Given the description of an element on the screen output the (x, y) to click on. 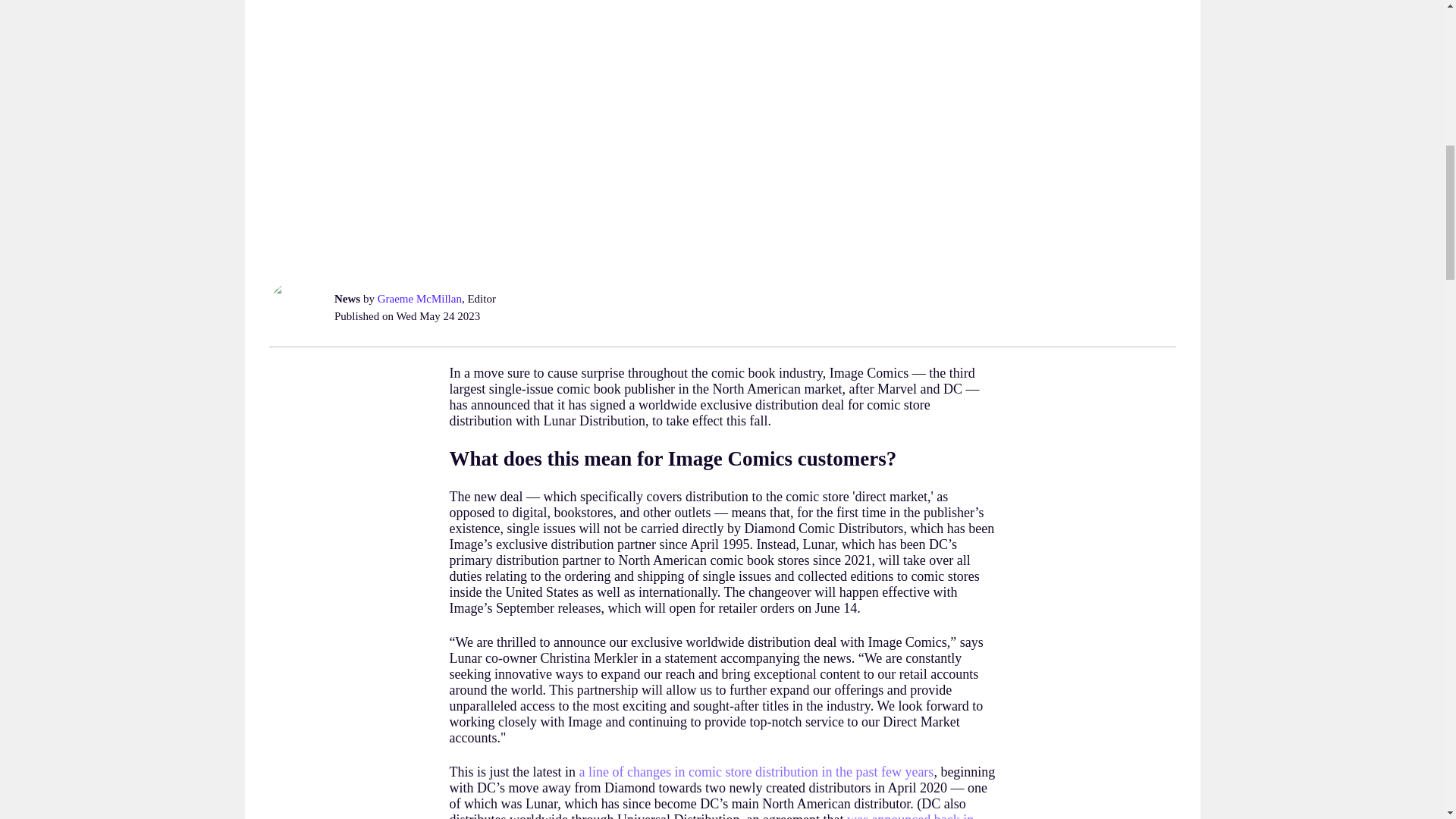
Graeme McMillan (419, 298)
was announced back in September last year (711, 815)
